Given the description of an element on the screen output the (x, y) to click on. 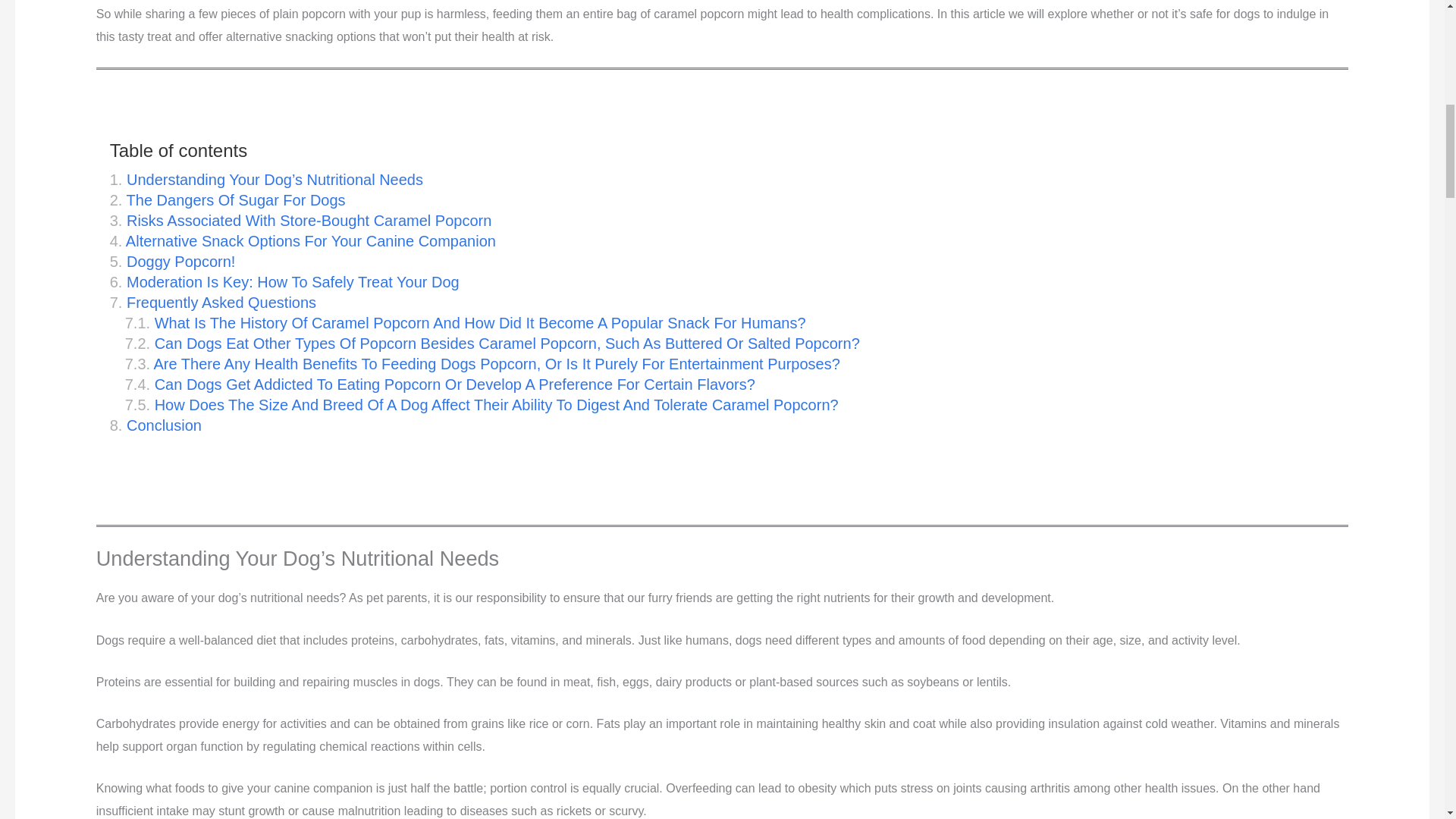
Risks Associated With Store-Bought Caramel Popcorn (301, 221)
Alternative Snack Options For Your Canine Companion (303, 241)
Frequently Asked Questions (212, 303)
Conclusion (156, 425)
Moderation Is Key: How To Safely Treat Your Dog (285, 282)
Doggy Popcorn! (172, 262)
The Dangers Of Sugar For Dogs (228, 200)
